Given the description of an element on the screen output the (x, y) to click on. 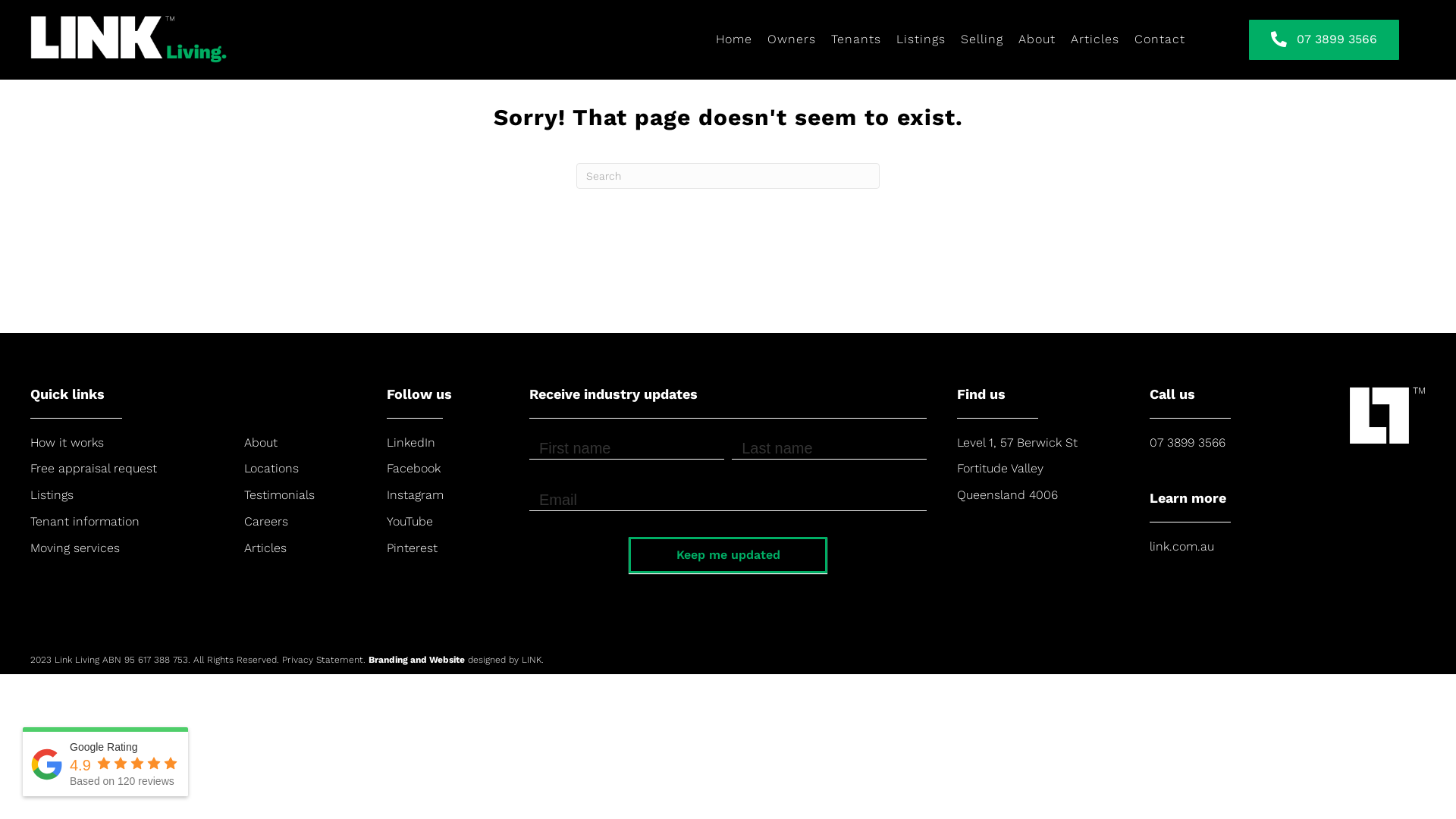
Queensland 4006 Element type: text (1007, 494)
07 3899 3566 Element type: text (1187, 442)
Tenant information Element type: text (84, 521)
Pinterest Element type: text (411, 547)
Fortitude Valley Element type: text (1000, 468)
Keep me updated Element type: text (727, 554)
Listings Element type: text (920, 39)
Owners Element type: text (791, 39)
Branding and Website Element type: text (417, 659)
Facebook Element type: text (413, 468)
LinkedIn Element type: text (410, 442)
Type and press Enter to search. Element type: hover (727, 175)
Testimonials Element type: text (279, 494)
Careers Element type: text (266, 521)
About Element type: text (260, 442)
Moving services Element type: text (74, 547)
Free appraisal request Element type: text (93, 468)
Privacy Statement Element type: text (322, 659)
How it works Element type: text (66, 442)
Listings Element type: text (51, 494)
Level 1, 57 Berwick St Element type: text (1017, 442)
YouTube Element type: text (409, 521)
Articles Element type: text (265, 547)
Locations Element type: text (271, 468)
Instagram Element type: text (414, 494)
07 3899 3566 Element type: text (1323, 39)
Articles Element type: text (1094, 39)
Link Logo_Link Overall Symbol Reversed Element type: hover (1387, 414)
Selling Element type: text (981, 39)
About Element type: text (1036, 39)
Web Equal Lengths_Link Living Reversed Element type: hover (162, 39)
Home Element type: text (733, 39)
Contact Element type: text (1159, 39)
link.com.au Element type: text (1181, 546)
Tenants Element type: text (855, 39)
